Given the description of an element on the screen output the (x, y) to click on. 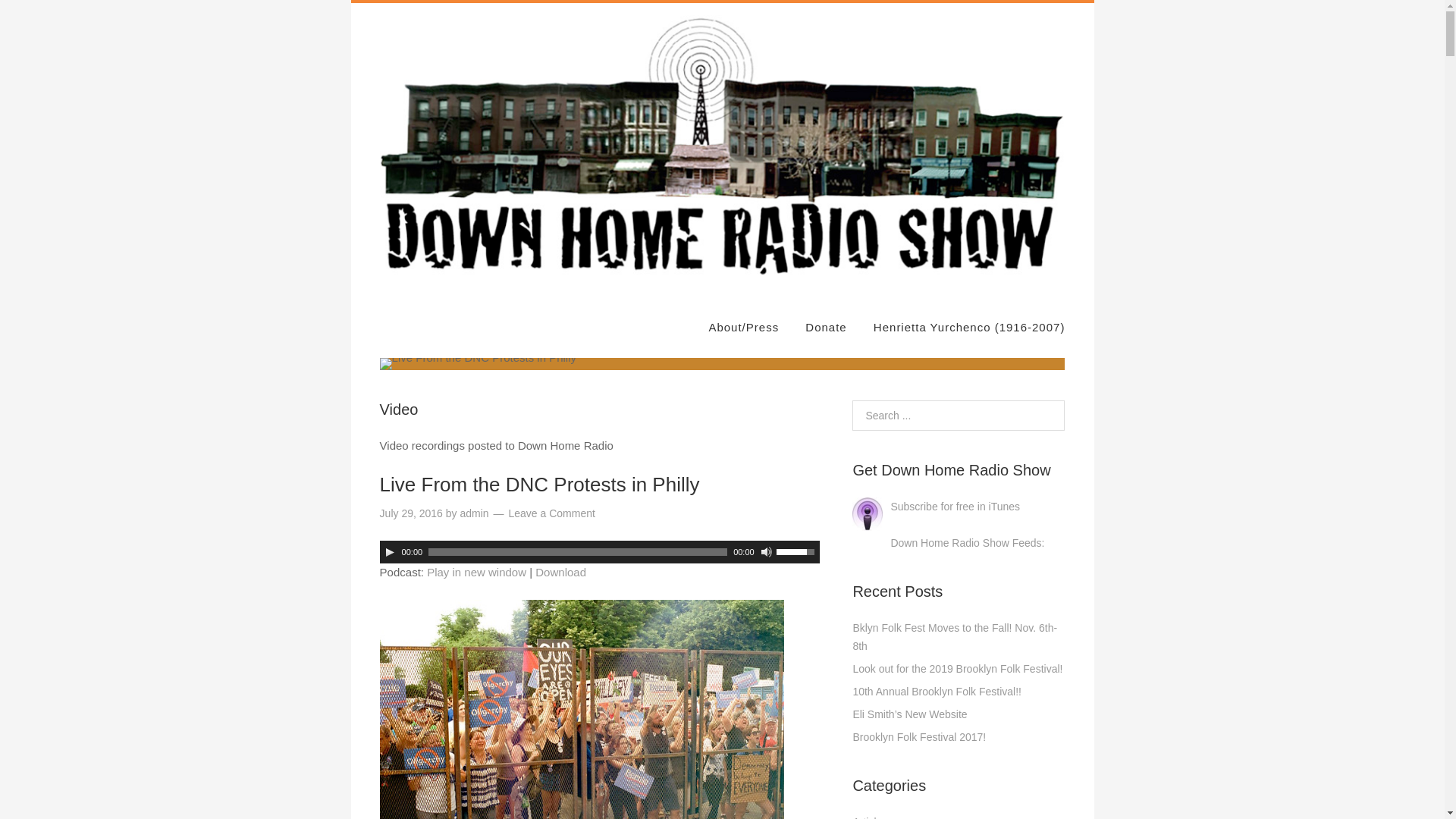
Play in new window (475, 571)
Mute (766, 551)
Live From the DNC Protests in Philly (540, 484)
Leave a Comment (551, 512)
Play in new window (475, 571)
Posts by admin (473, 512)
admin (473, 512)
Donate (825, 327)
Download (560, 571)
